Given the description of an element on the screen output the (x, y) to click on. 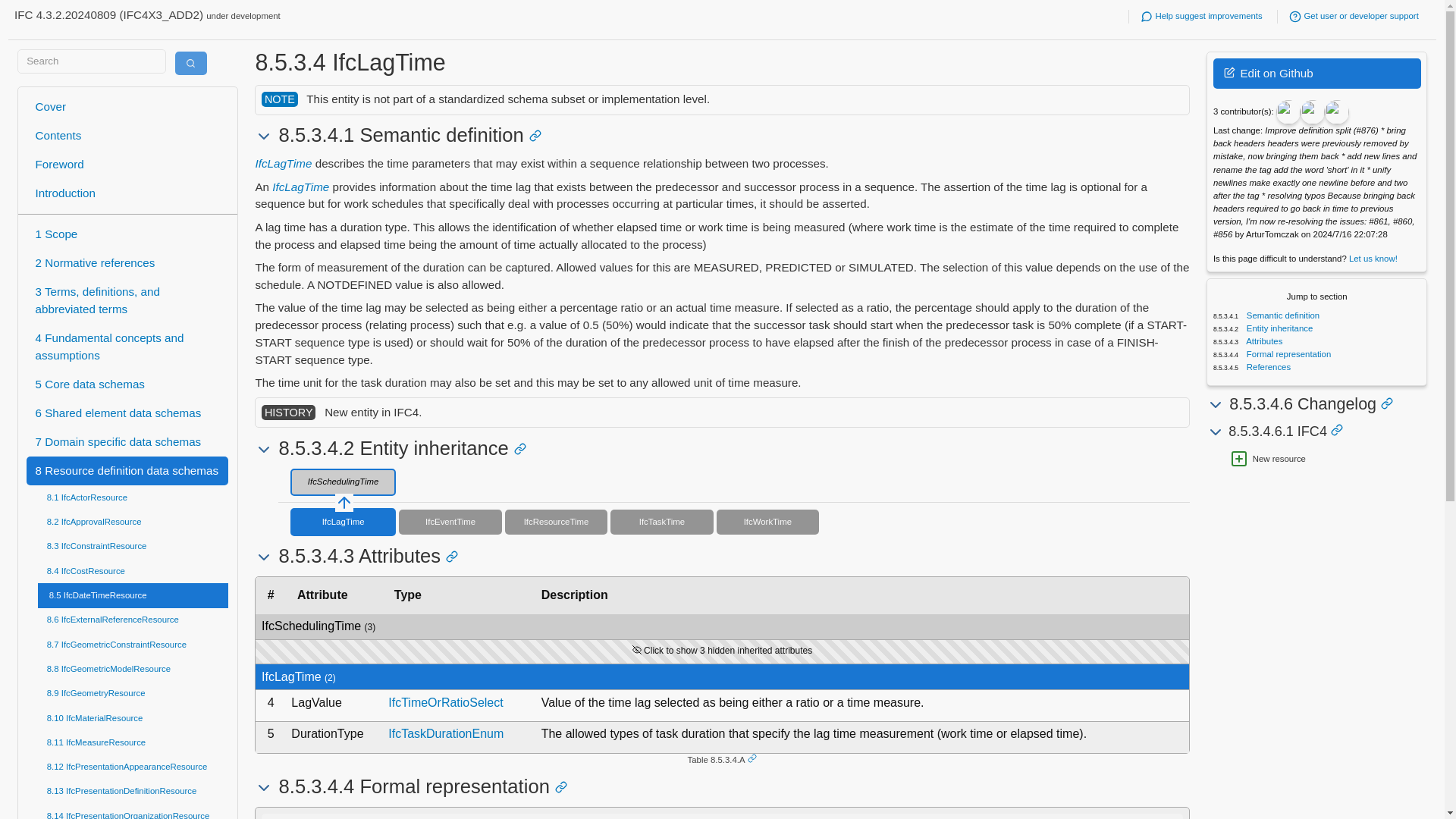
8.9 IfcGeometryResource (132, 693)
4 Fundamental concepts and assumptions (127, 347)
8.6 IfcExternalReferenceResource (132, 620)
5 Core data schemas (127, 384)
8.5 IfcDateTimeResource (132, 595)
Introduction (127, 193)
8 Resource definition data schemas (127, 470)
8.8 IfcGeometricModelResource (132, 668)
8.1 IfcActorResource (132, 497)
7 Domain specific data schemas (127, 441)
